Given the description of an element on the screen output the (x, y) to click on. 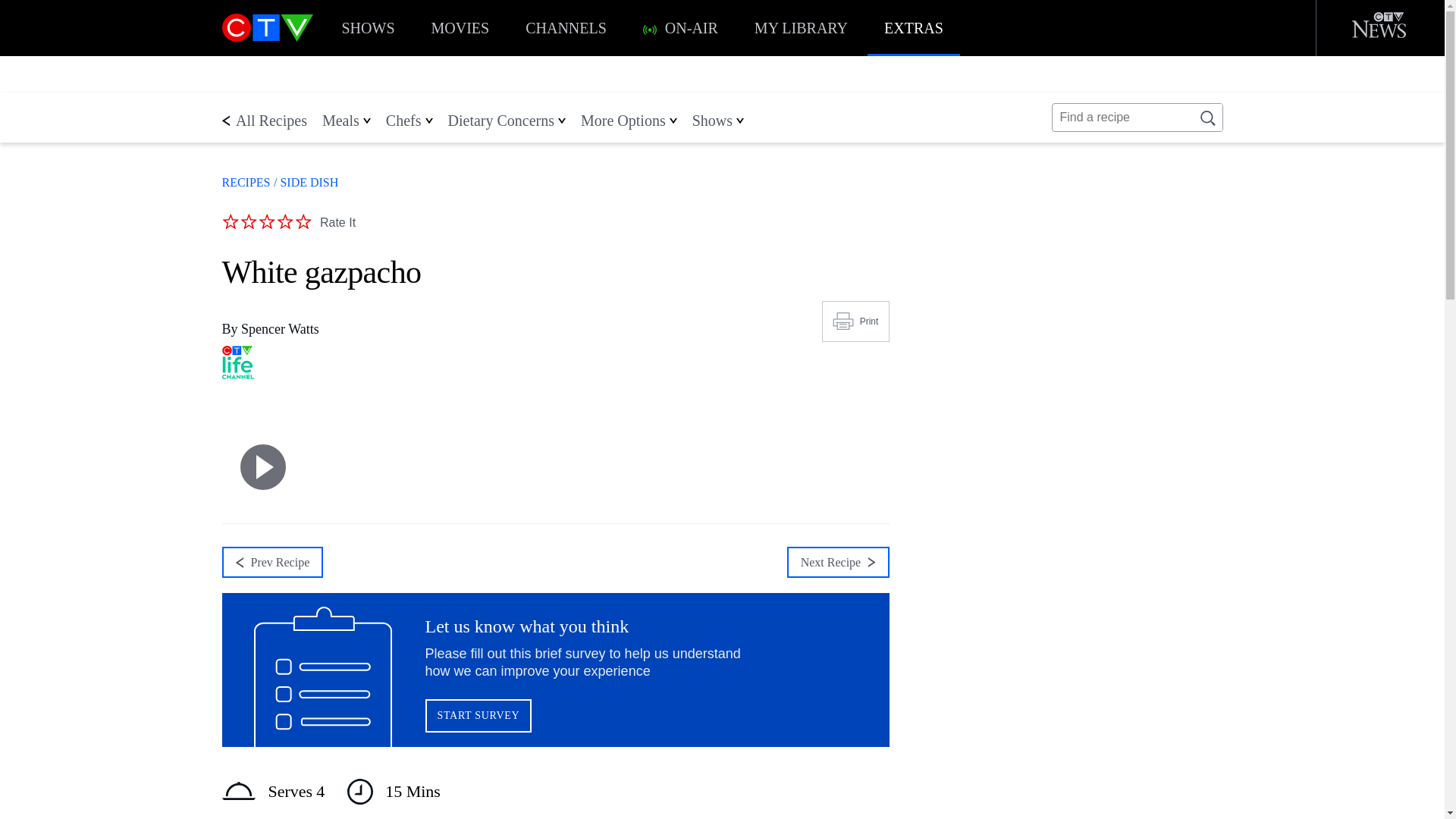
RECIPES (245, 182)
Shows (712, 119)
EXTRAS (913, 28)
Go To CTVNews.ca (1385, 28)
START SURVEY (478, 715)
Prev Recipe (272, 562)
View All Recipes (245, 182)
Dietary Concerns (500, 119)
MY LIBRARY (801, 28)
Chefs (403, 119)
ON-AIR (680, 28)
Print (855, 321)
Let us know what you think (554, 669)
More Options (622, 119)
Go To On-Air on CTV.ca (649, 30)
